Given the description of an element on the screen output the (x, y) to click on. 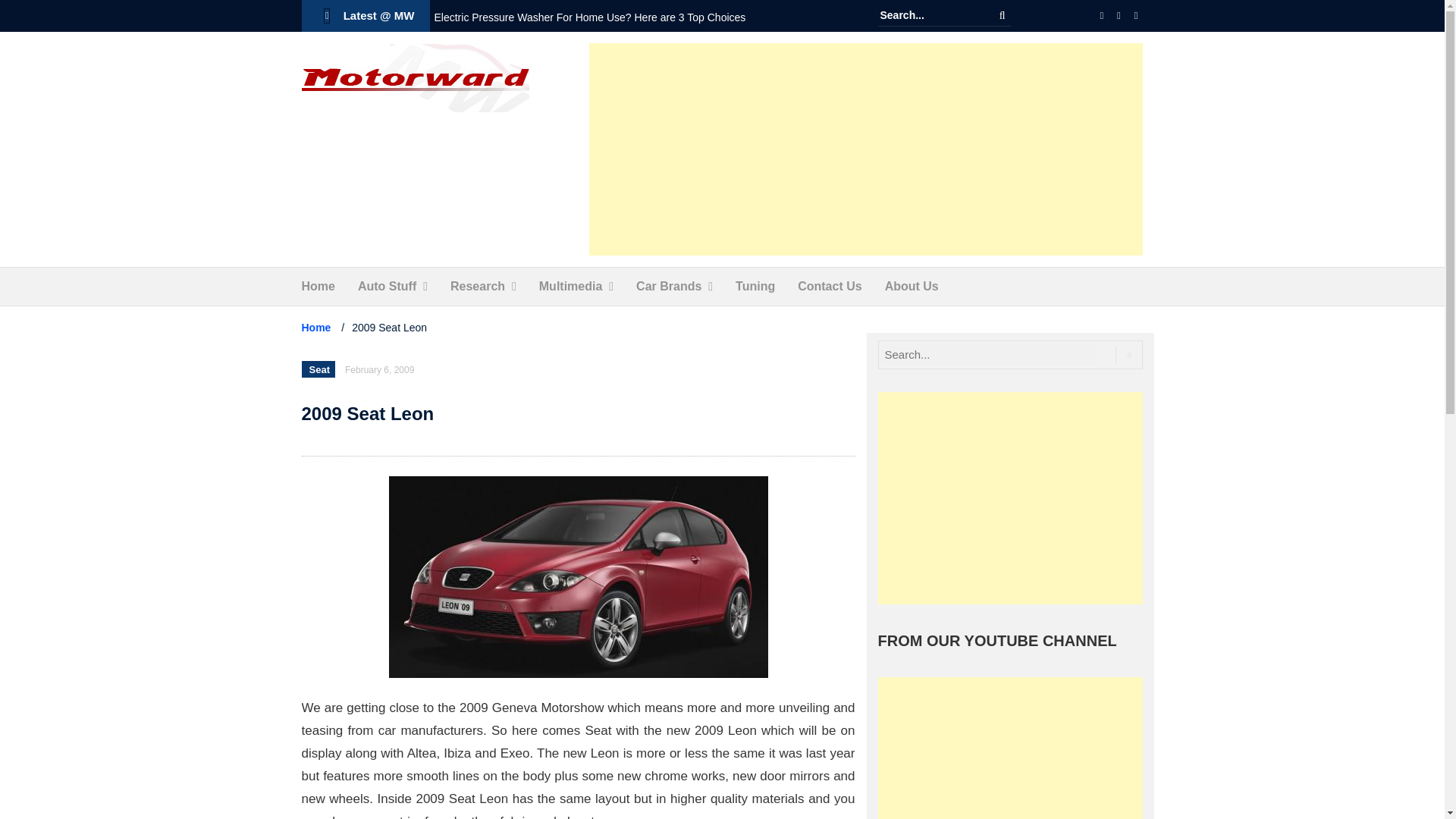
Home (317, 286)
Car Brands (668, 286)
seat leon 2009 1 (577, 576)
Auto Stuff (387, 286)
Advertisement (865, 149)
Multimedia (570, 286)
Search   (1002, 14)
Research (477, 286)
